Given the description of an element on the screen output the (x, y) to click on. 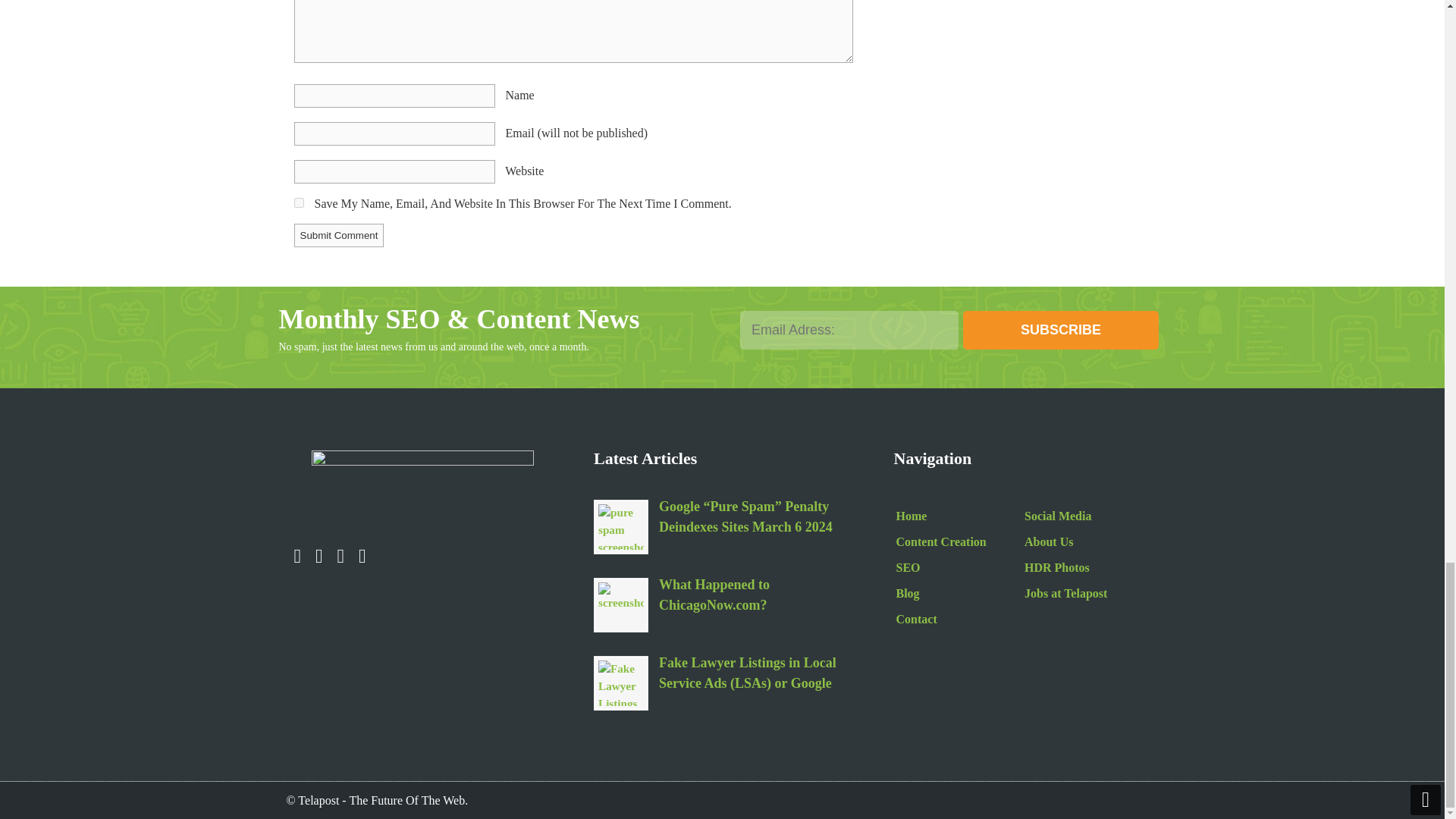
Submit Comment (339, 235)
yes (299, 203)
What Happened to ChicagoNow.com? (620, 605)
What Happened to ChicagoNow.com? (754, 596)
Subscribe (1060, 330)
Submit Comment (339, 235)
